Given the description of an element on the screen output the (x, y) to click on. 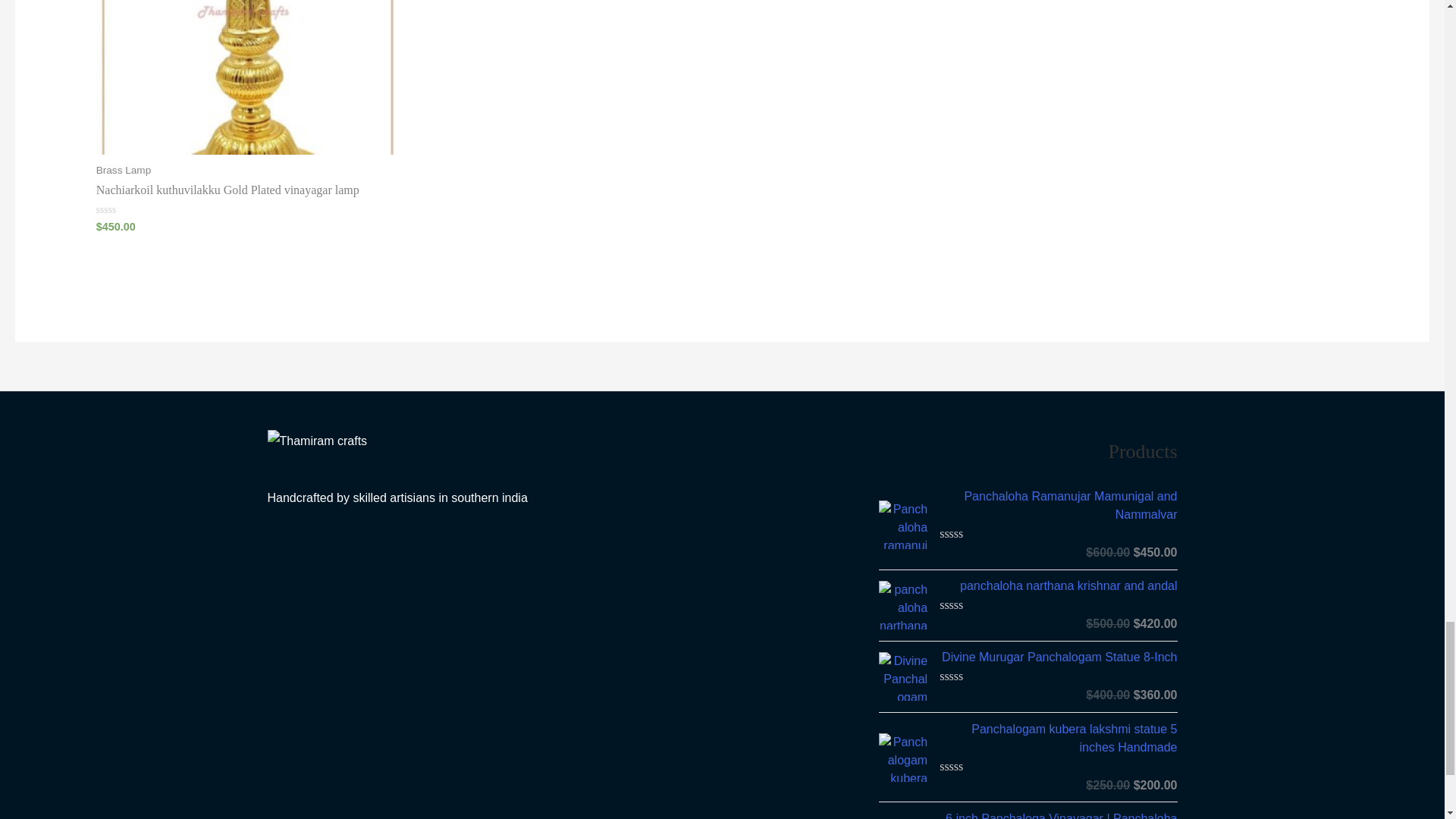
Nachiarkoil kuthuvilakku Gold Plated vinayagar lamp (246, 190)
panchaloha narthana krishnar and andal (1057, 586)
Divine Murugar Panchalogam Statue 8-Inch (1057, 657)
Panchaloha Ramanujar Mamunigal and Nammalvar (1057, 505)
